Given the description of an element on the screen output the (x, y) to click on. 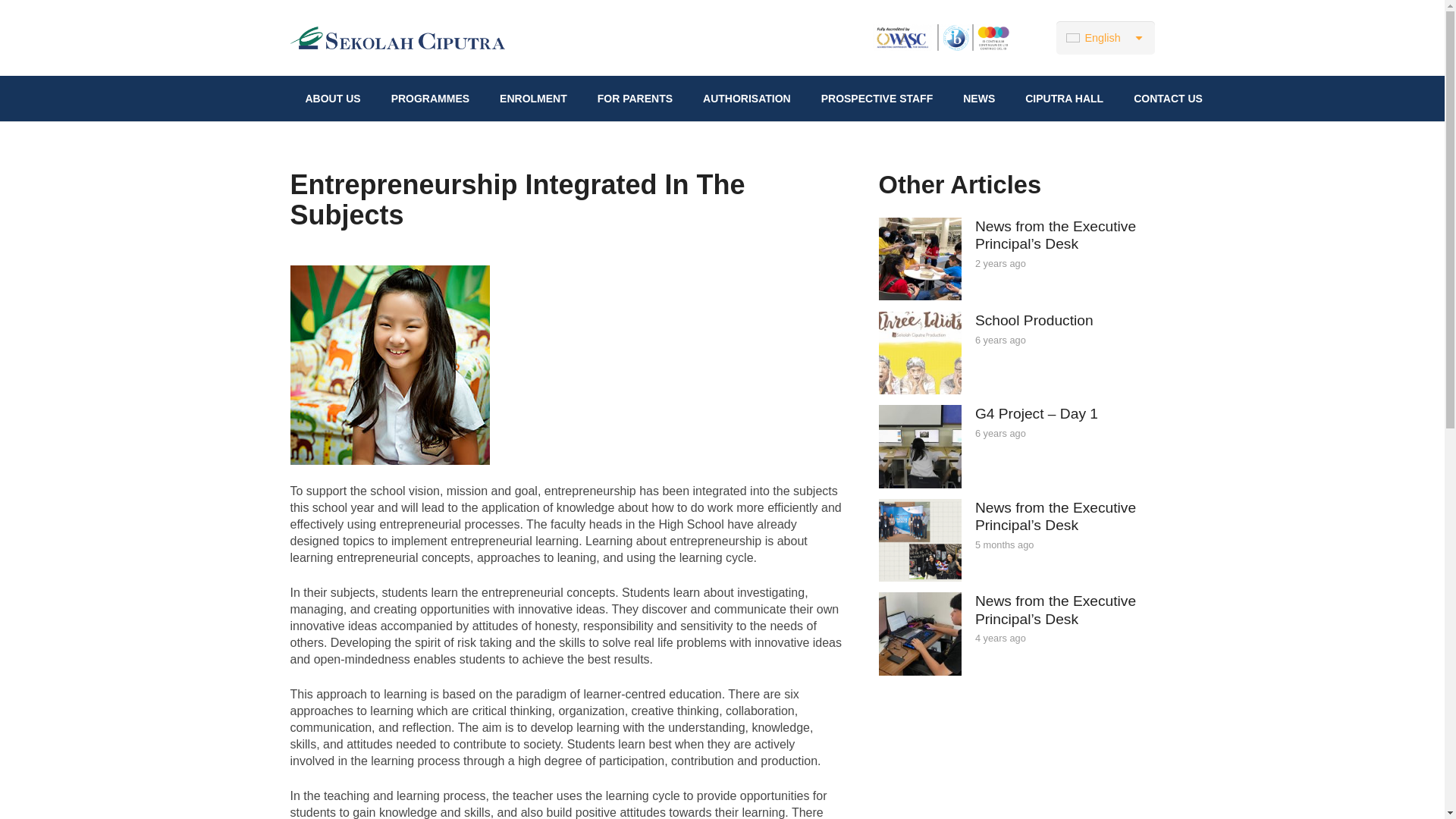
ENROLMENT (533, 98)
ABOUT US (332, 98)
PROGRAMMES (429, 98)
English (1105, 38)
FOR PARENTS (634, 98)
